Given the description of an element on the screen output the (x, y) to click on. 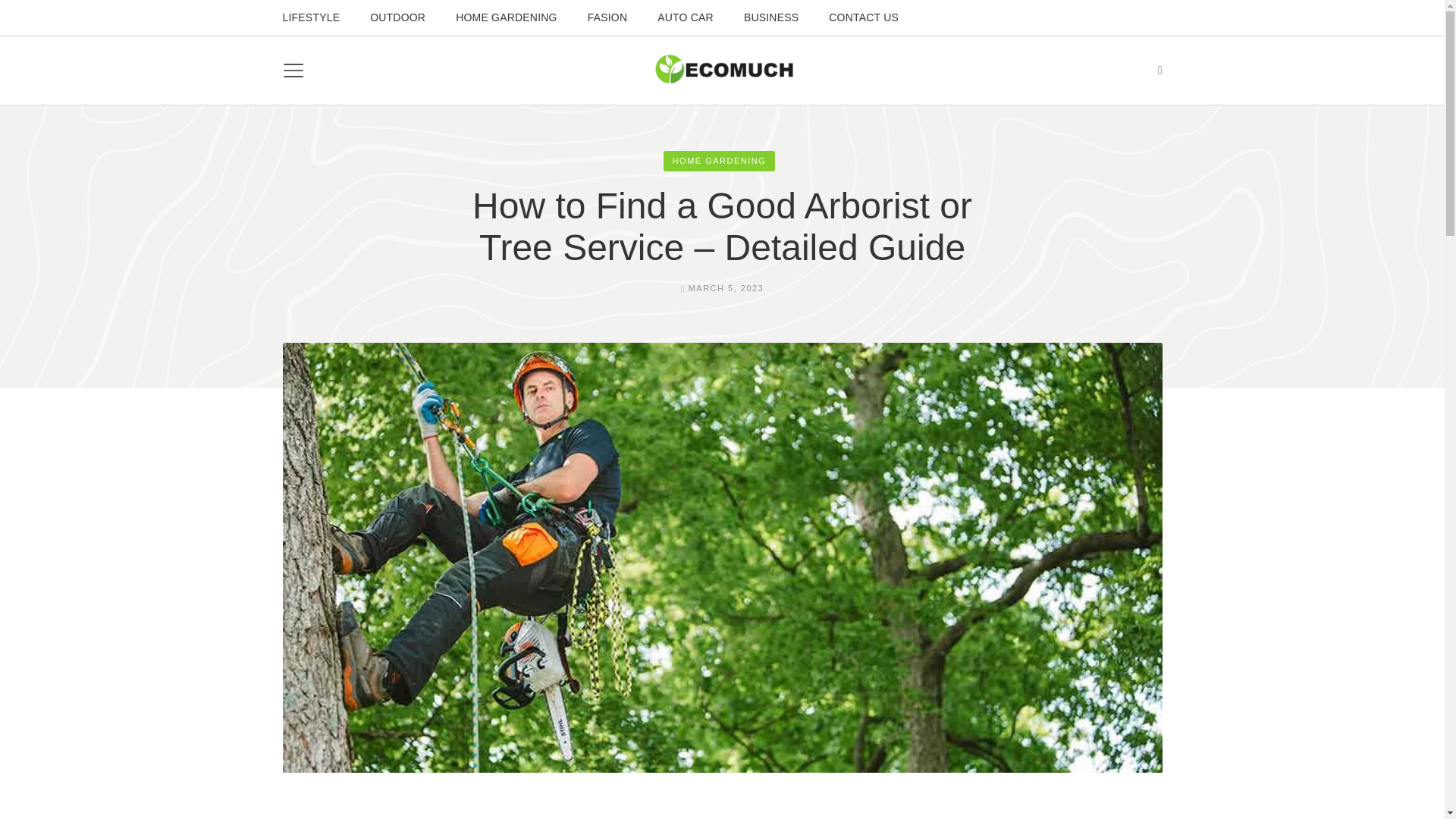
CONTACT US (863, 17)
HOME GARDENING (505, 17)
AUTO CAR (684, 17)
OUTDOOR (397, 17)
LIFESTYLE (311, 17)
BUSINESS (771, 17)
MARCH 5, 2023 (726, 287)
FASION (606, 17)
HOME GARDENING (719, 160)
